Given the description of an element on the screen output the (x, y) to click on. 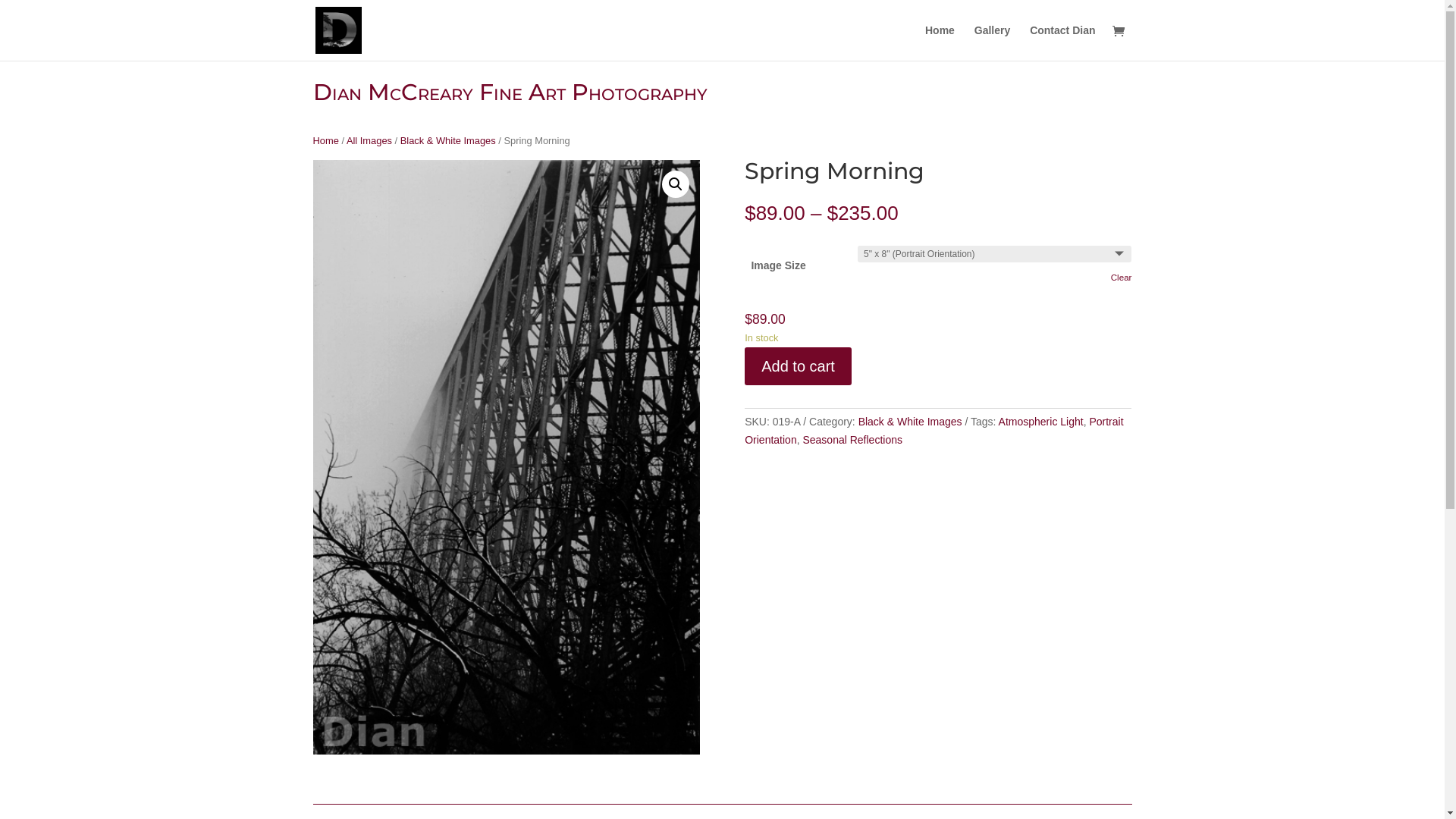
Portrait Orientation Element type: text (933, 430)
Atmospheric Light Element type: text (1040, 421)
Gallery Element type: text (992, 42)
Home Element type: text (325, 140)
Black & White Images Element type: text (447, 140)
Black & White Images Element type: text (910, 421)
Add to cart Element type: text (797, 366)
Seasonal Reflections Element type: text (852, 439)
19-Spring Morning Element type: hover (505, 457)
Contact Dian Element type: text (1062, 42)
Home Element type: text (939, 42)
Clear Element type: text (1121, 277)
All Images Element type: text (369, 140)
